Given the description of an element on the screen output the (x, y) to click on. 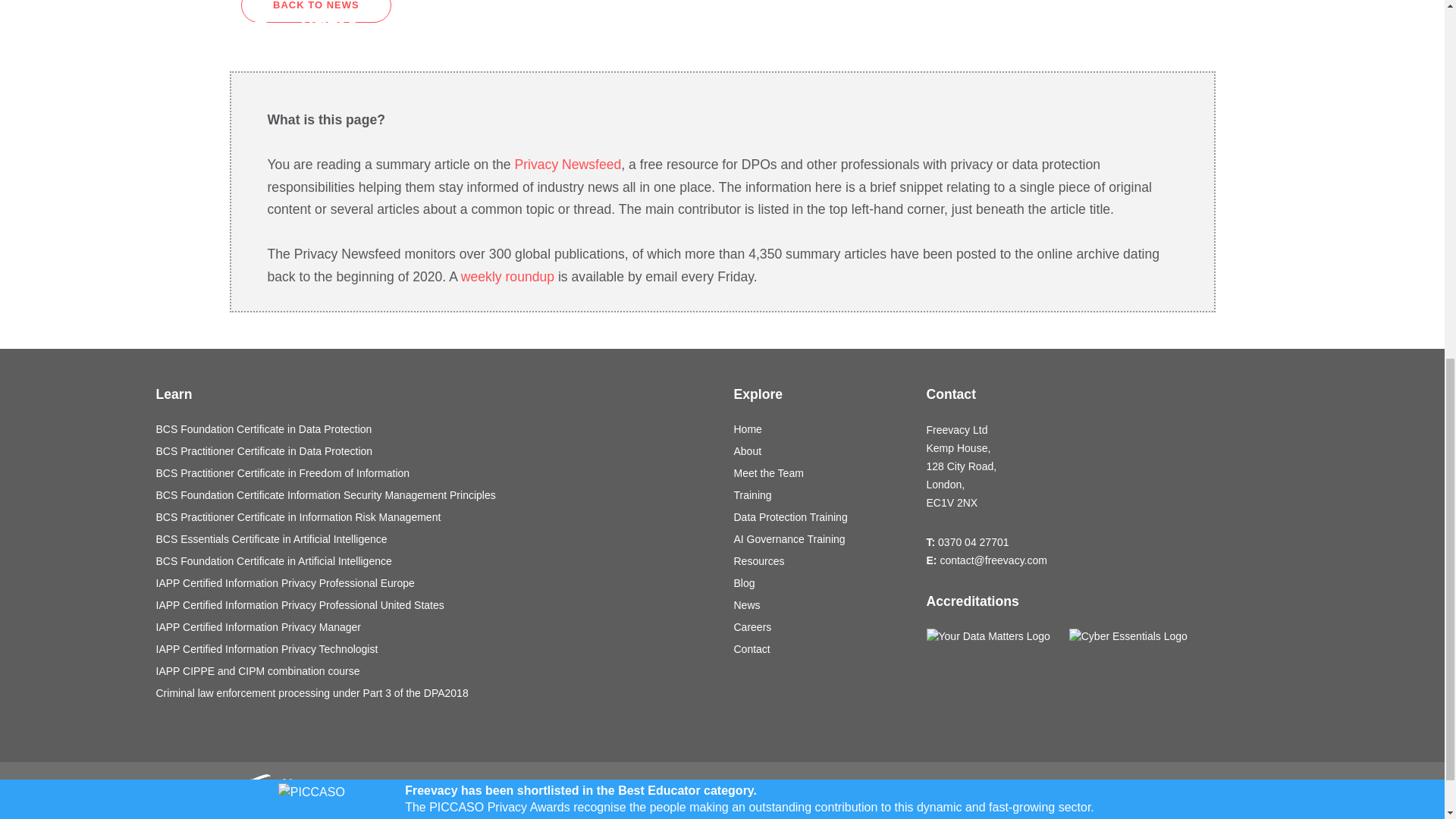
BCS Practitioner Certificate in Information Risk Management (433, 517)
BCS Foundation Certificate in Data Protection (433, 429)
IAPP CIPPE and CIPM combination course (433, 671)
BCS Practitioner Certificate in Freedom of Information (433, 473)
Home (818, 429)
IAPP Certified Information Privacy Technologist (433, 649)
BACK TO NEWS (316, 11)
IAPP Certified Information Privacy Professional Europe (433, 583)
